Given the description of an element on the screen output the (x, y) to click on. 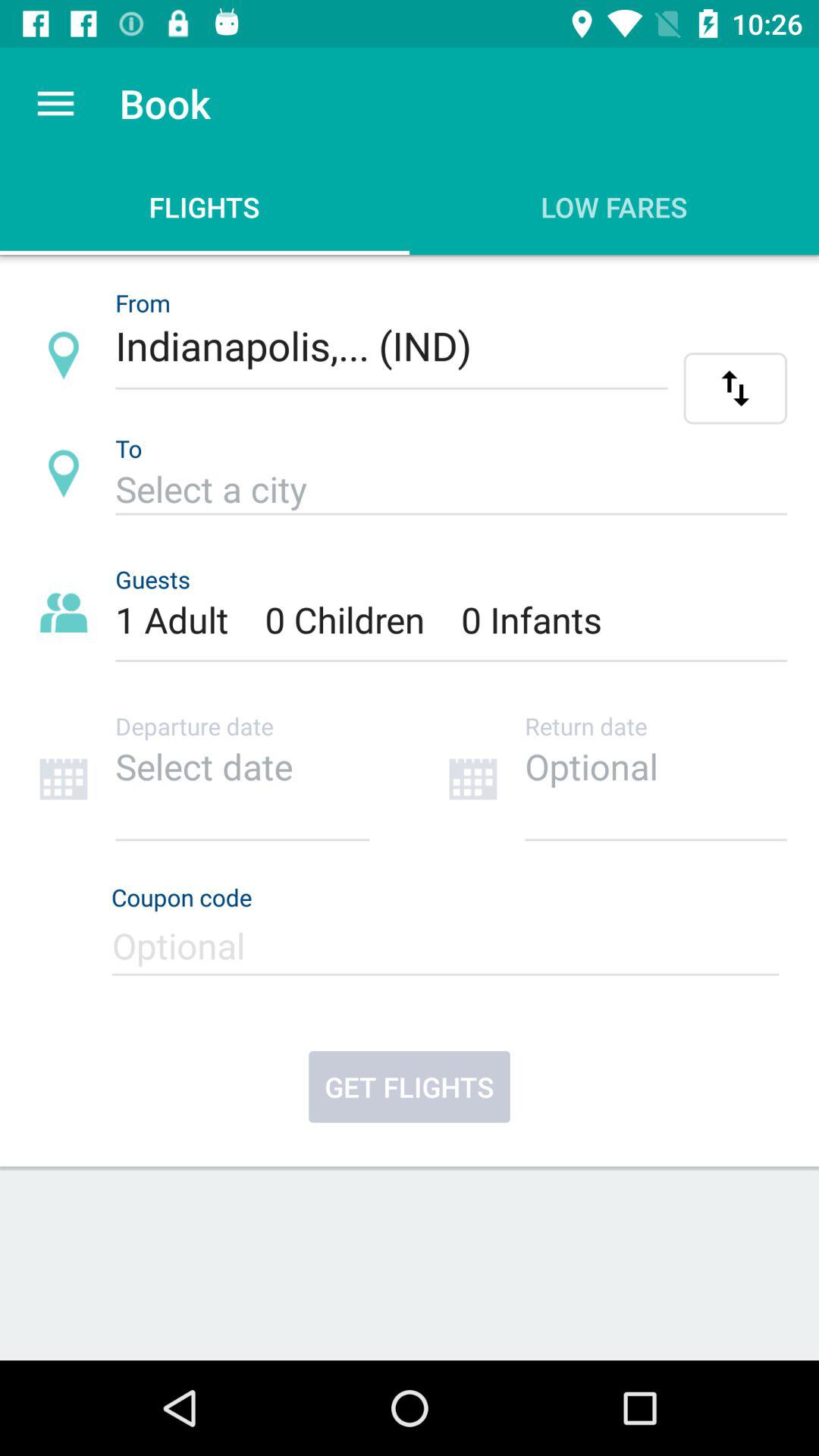
tap get flights item (409, 1086)
